Given the description of an element on the screen output the (x, y) to click on. 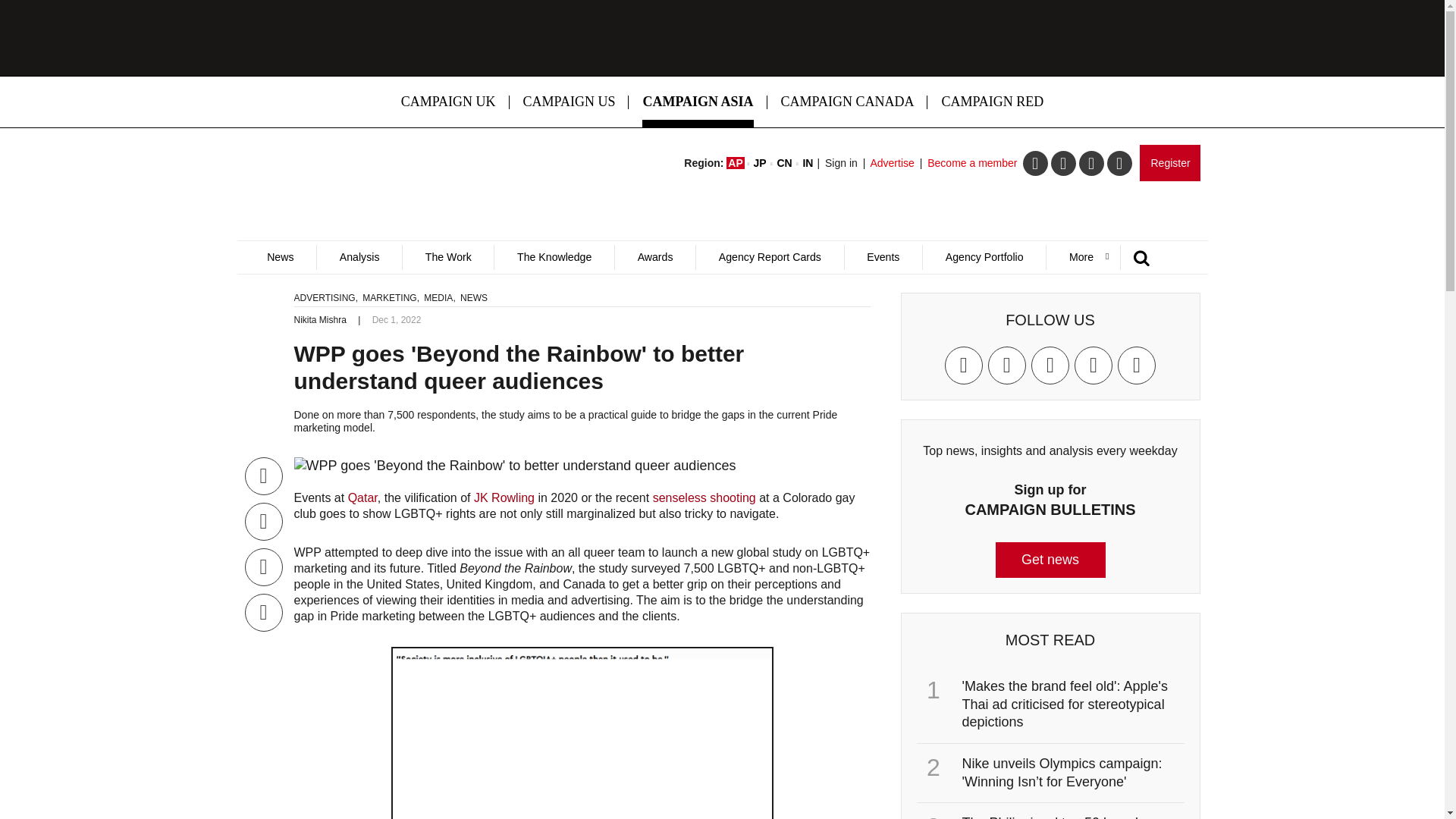
CAMPAIGN UK (448, 101)
News (279, 257)
Analysis (358, 257)
CN (783, 162)
CAMPAIGN CANADA (847, 101)
The Knowledge (553, 257)
AP (735, 162)
Awards (654, 257)
Become a member (971, 162)
Register (1168, 162)
